Given the description of an element on the screen output the (x, y) to click on. 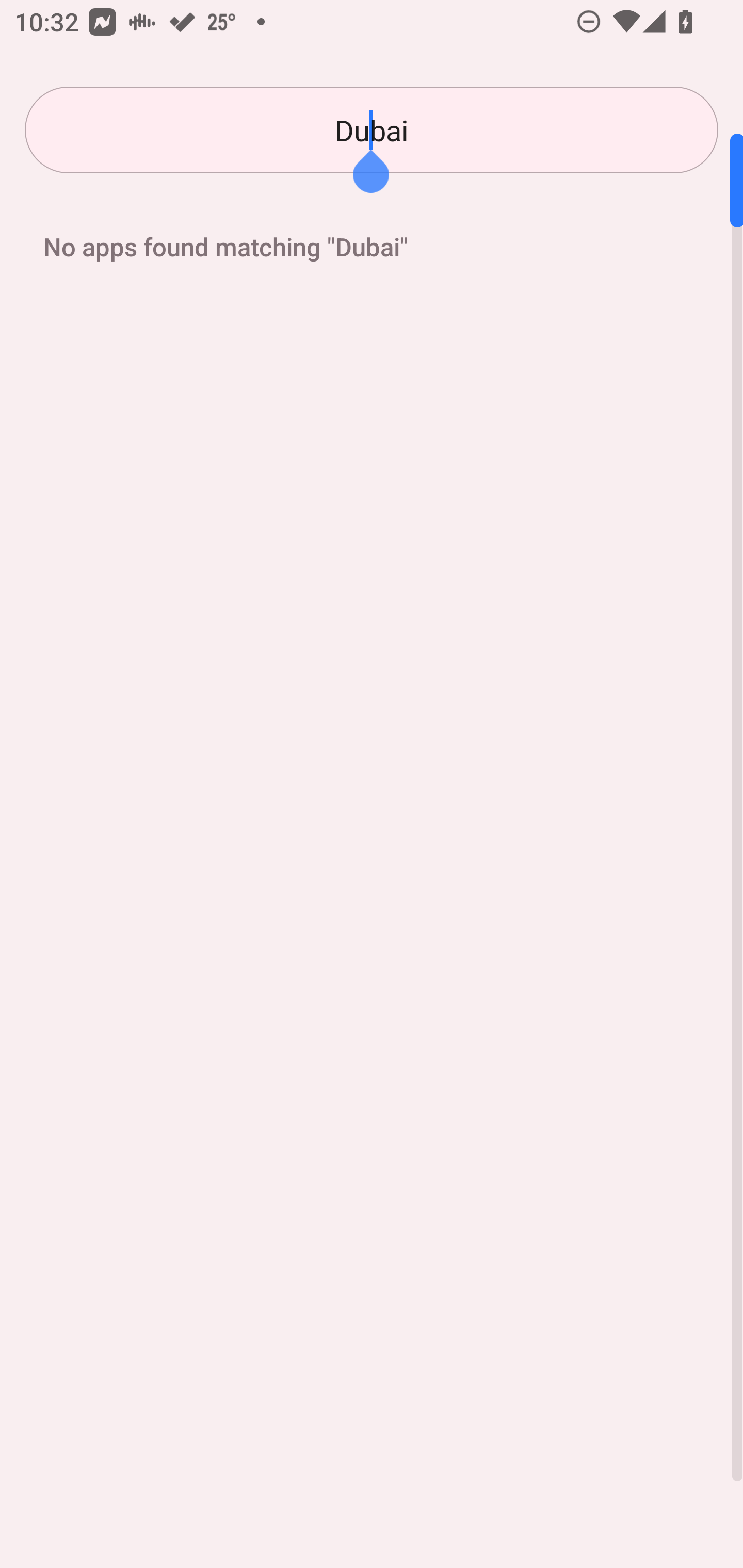
Dubai (371, 130)
